Given the description of an element on the screen output the (x, y) to click on. 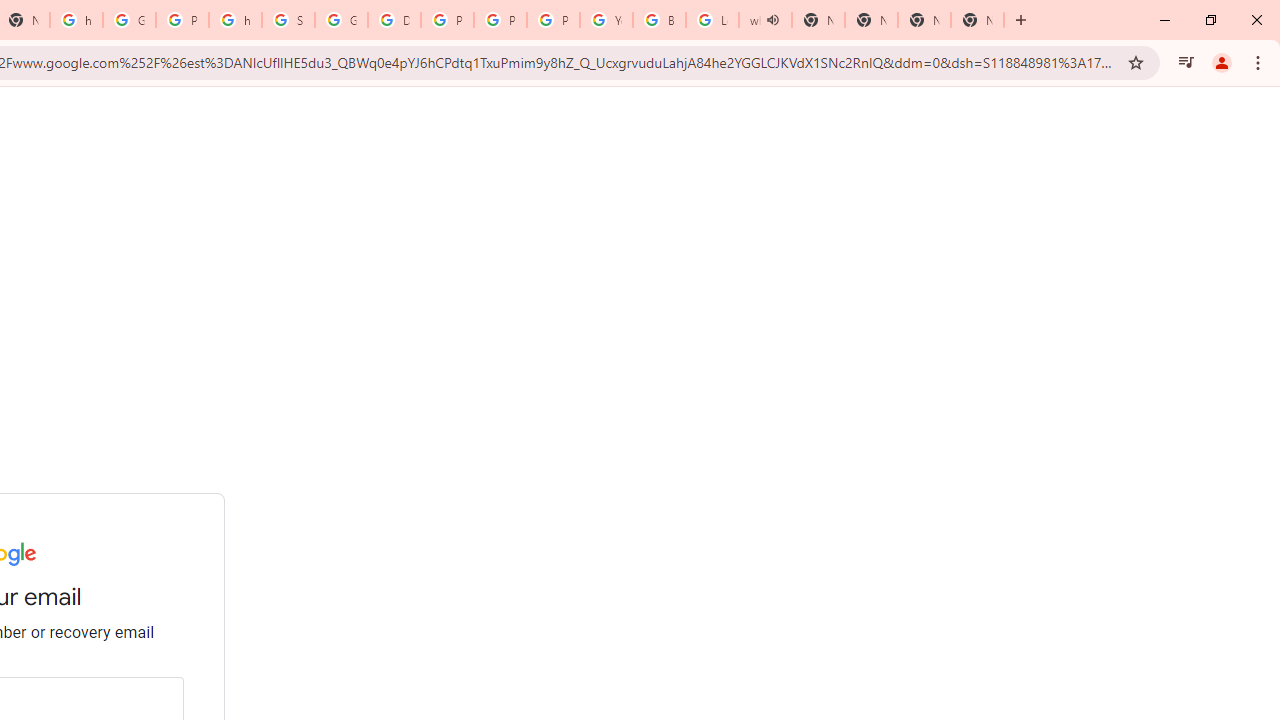
https://scholar.google.com/ (76, 20)
New Tab (977, 20)
https://scholar.google.com/ (235, 20)
Privacy Help Center - Policies Help (447, 20)
Privacy Help Center - Policies Help (500, 20)
Sign in - Google Accounts (288, 20)
